Given the description of an element on the screen output the (x, y) to click on. 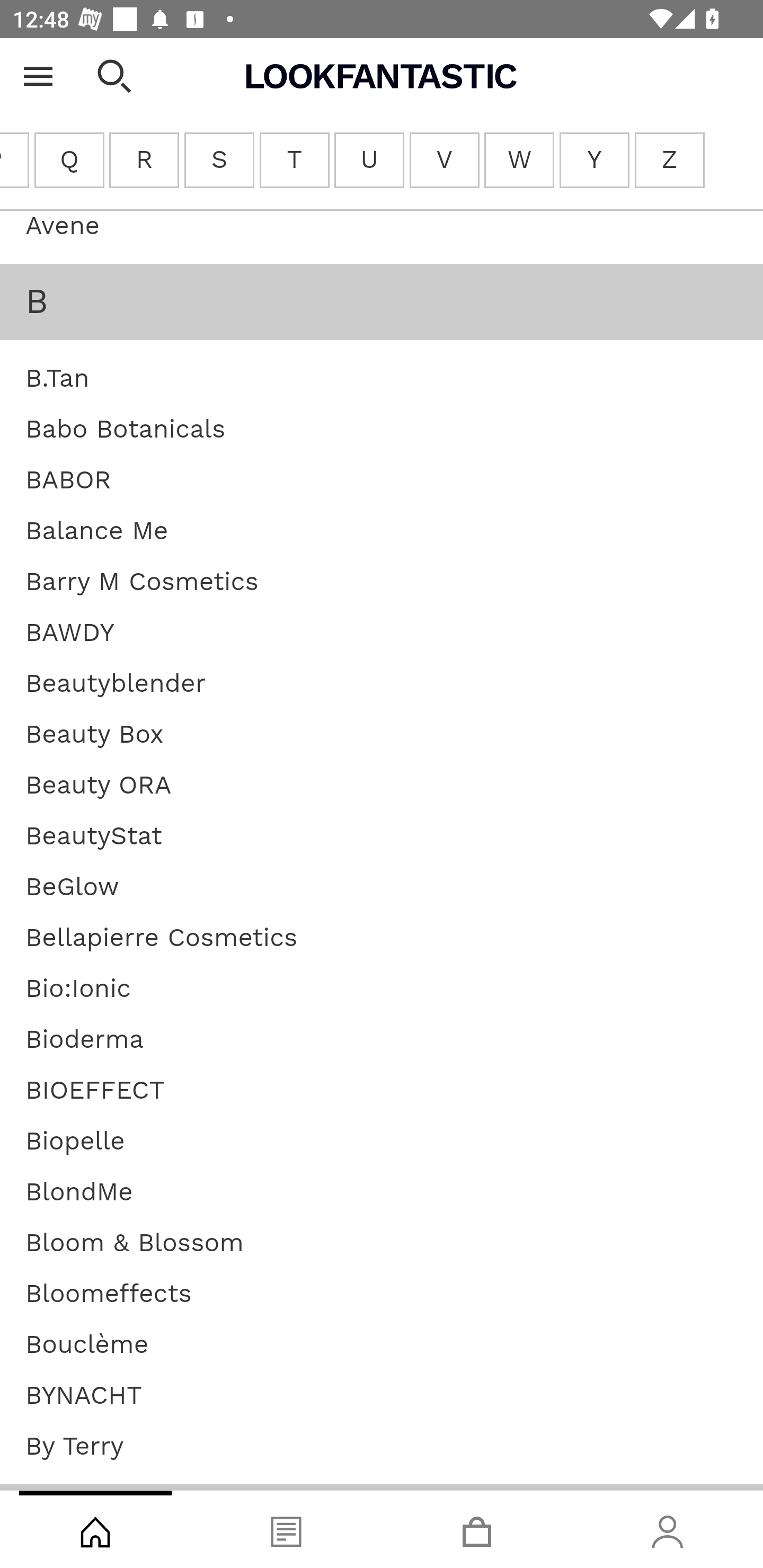
Q (69, 160)
R (143, 160)
S (219, 160)
T (294, 160)
U (369, 160)
V (443, 160)
W (518, 160)
Y (595, 160)
Z (669, 160)
Avene (62, 227)
B.Tan (57, 379)
Babo Botanicals (125, 430)
BABOR (68, 481)
Balance Me (96, 531)
Barry M Cosmetics (142, 582)
BAWDY (69, 633)
Beautyblender (115, 684)
Beauty Box (94, 735)
Beauty ORA (98, 786)
BeautyStat (93, 836)
BeGlow (72, 887)
Bellapierre Cosmetics (162, 938)
Bio:Ionic (78, 989)
Bioderma (84, 1040)
BIOEFFECT (95, 1091)
Biopelle (75, 1142)
BlondMe (79, 1192)
Bloom & Blossom (134, 1243)
Bloomeffects (108, 1294)
Bouclème (87, 1345)
BYNACHT (84, 1396)
By Terry (74, 1446)
Shop, tab, 1 of 4 (95, 1529)
Blog, tab, 2 of 4 (285, 1529)
Basket, tab, 3 of 4 (476, 1529)
Account, tab, 4 of 4 (667, 1529)
